Given the description of an element on the screen output the (x, y) to click on. 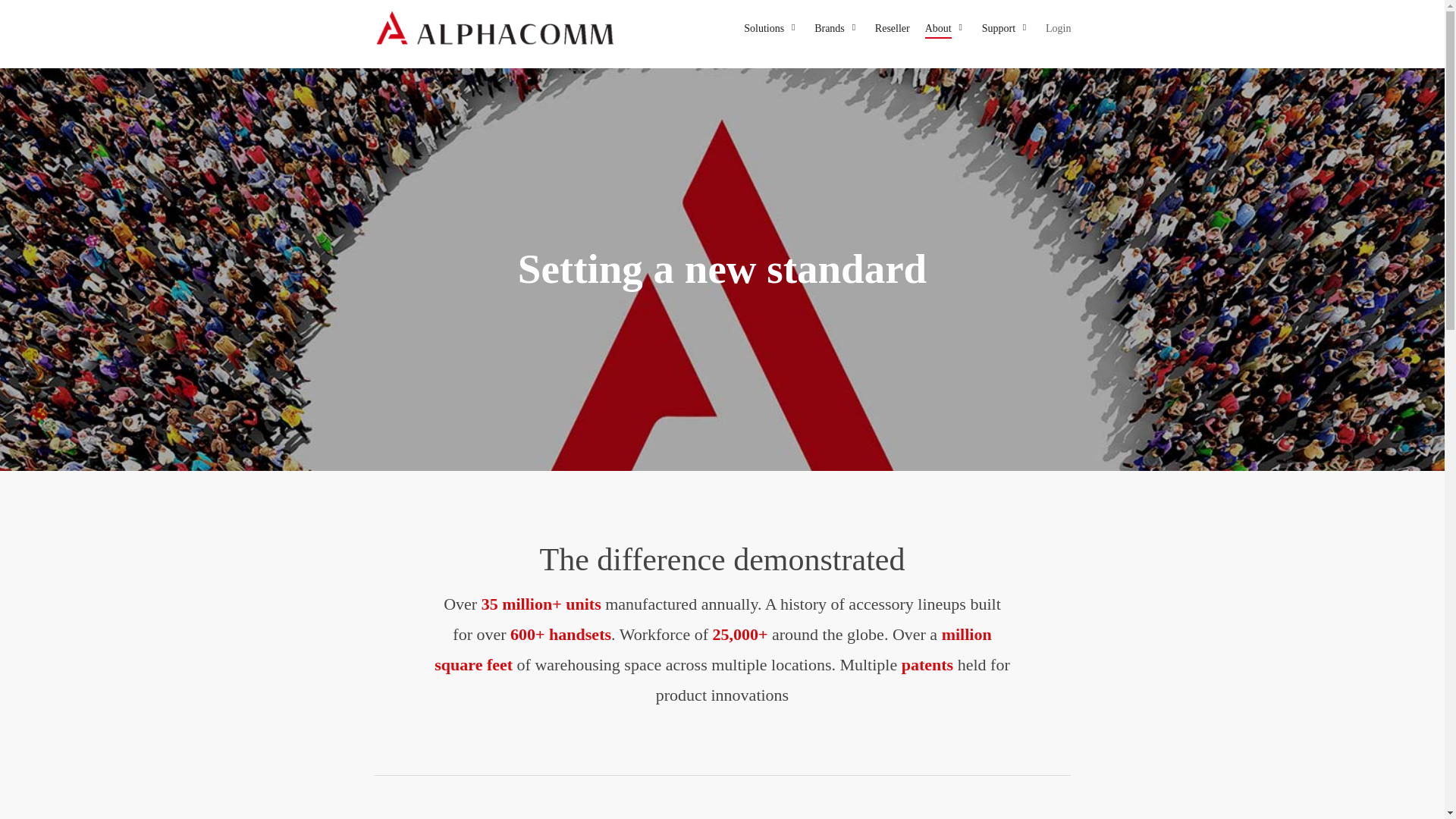
Support (1005, 28)
Brands (836, 28)
Solutions (771, 28)
Reseller (892, 28)
Login (1057, 28)
About (945, 28)
